Given the description of an element on the screen output the (x, y) to click on. 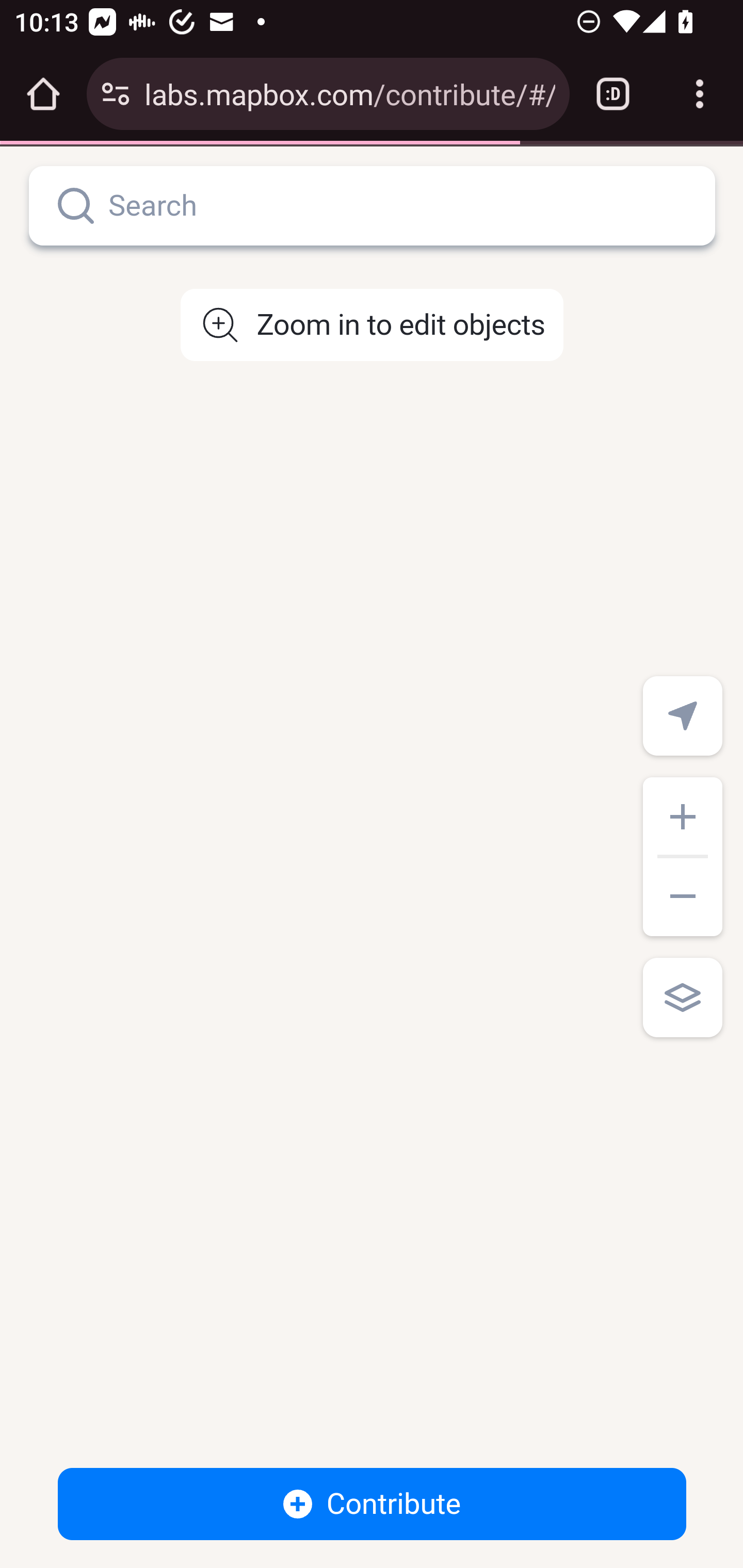
Open the home page (43, 93)
Connection is secure (115, 93)
Switch or close tabs (612, 93)
Customize and control Google Chrome (699, 93)
labs.mapbox.com/contribute/#/ (349, 92)
Find places (76, 206)
Contribute (372, 1504)
